Given the description of an element on the screen output the (x, y) to click on. 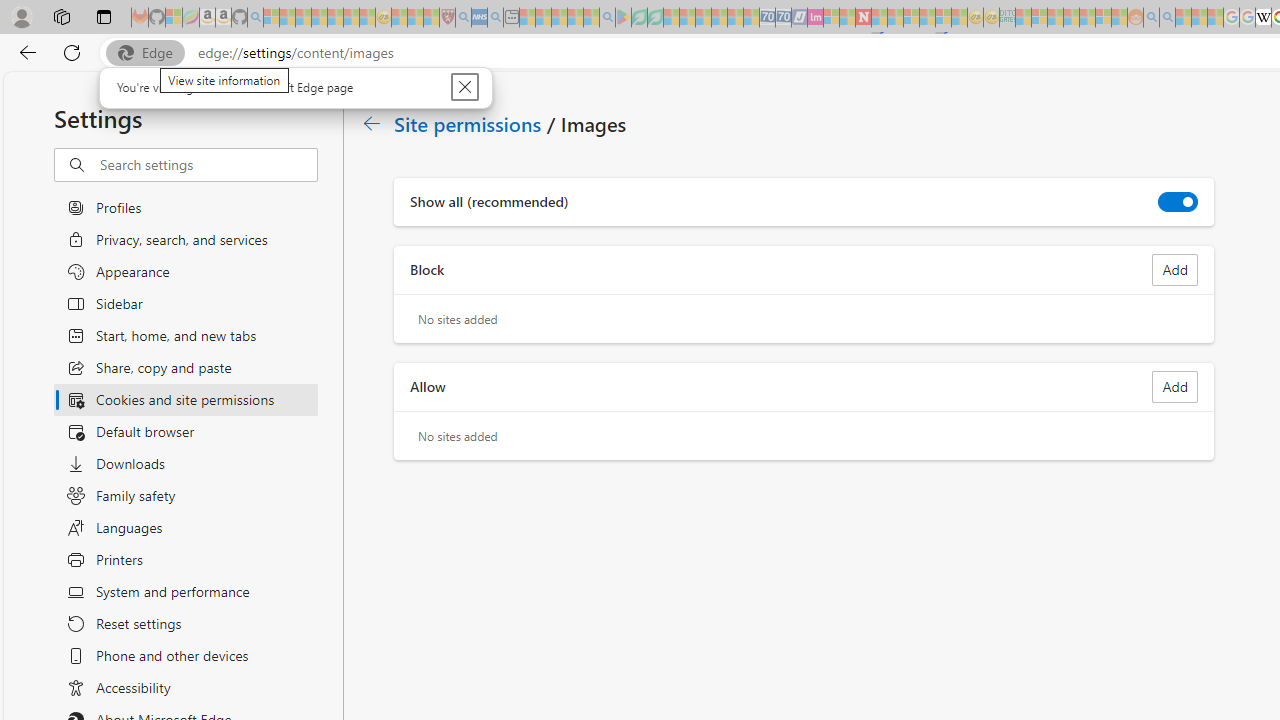
Target page - Wikipedia (1263, 17)
Show all (recommended) (1178, 201)
